Given the description of an element on the screen output the (x, y) to click on. 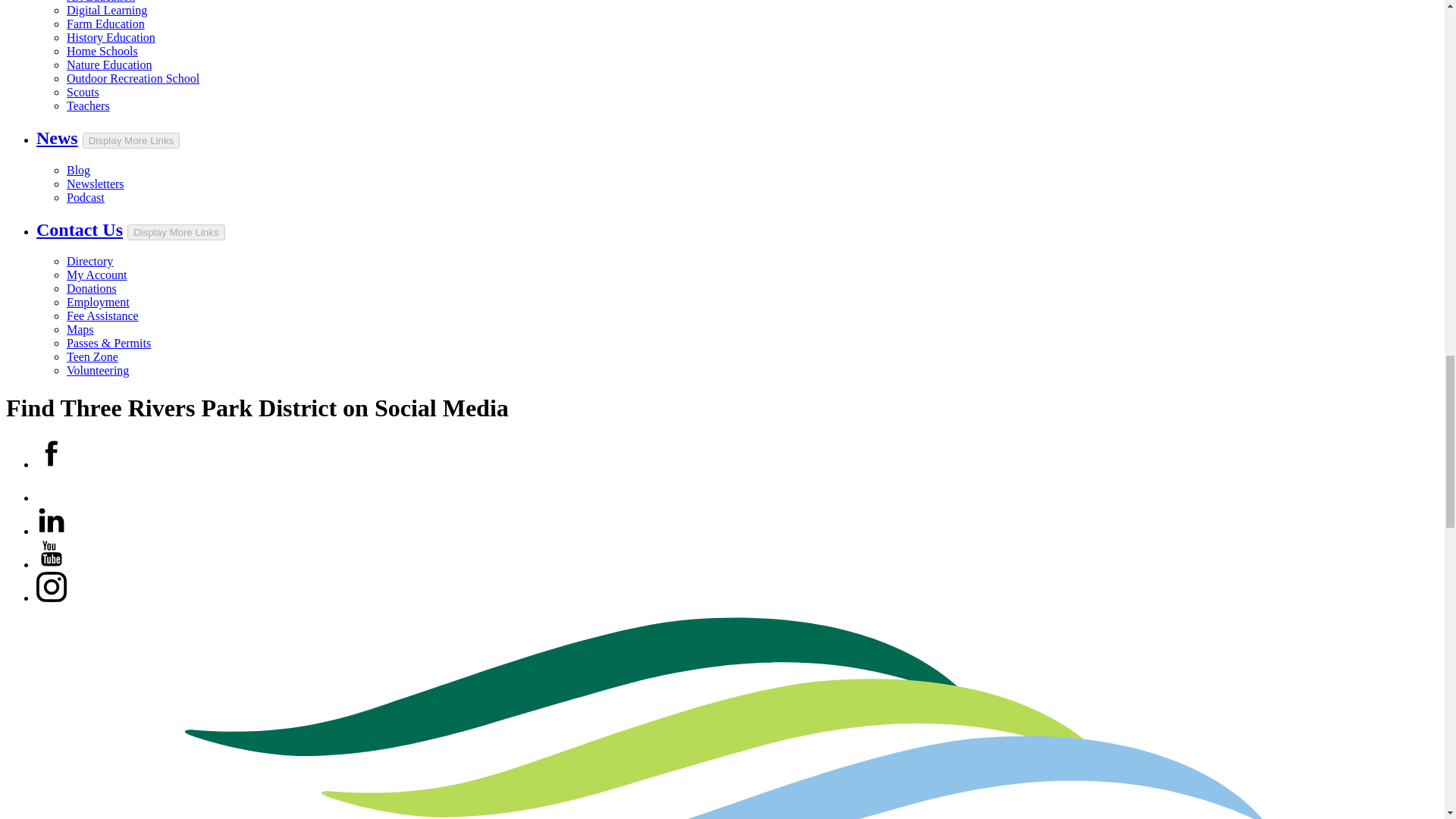
Digital Learning (106, 10)
Teachers (88, 105)
Find Us on LinkedIn (51, 520)
Find Us on Facebook (51, 453)
Free digital programming (106, 10)
Outdoor Recreation School (132, 78)
Scouts (82, 91)
Display More Links (131, 140)
Home Schools (102, 51)
History Education (110, 37)
